Given the description of an element on the screen output the (x, y) to click on. 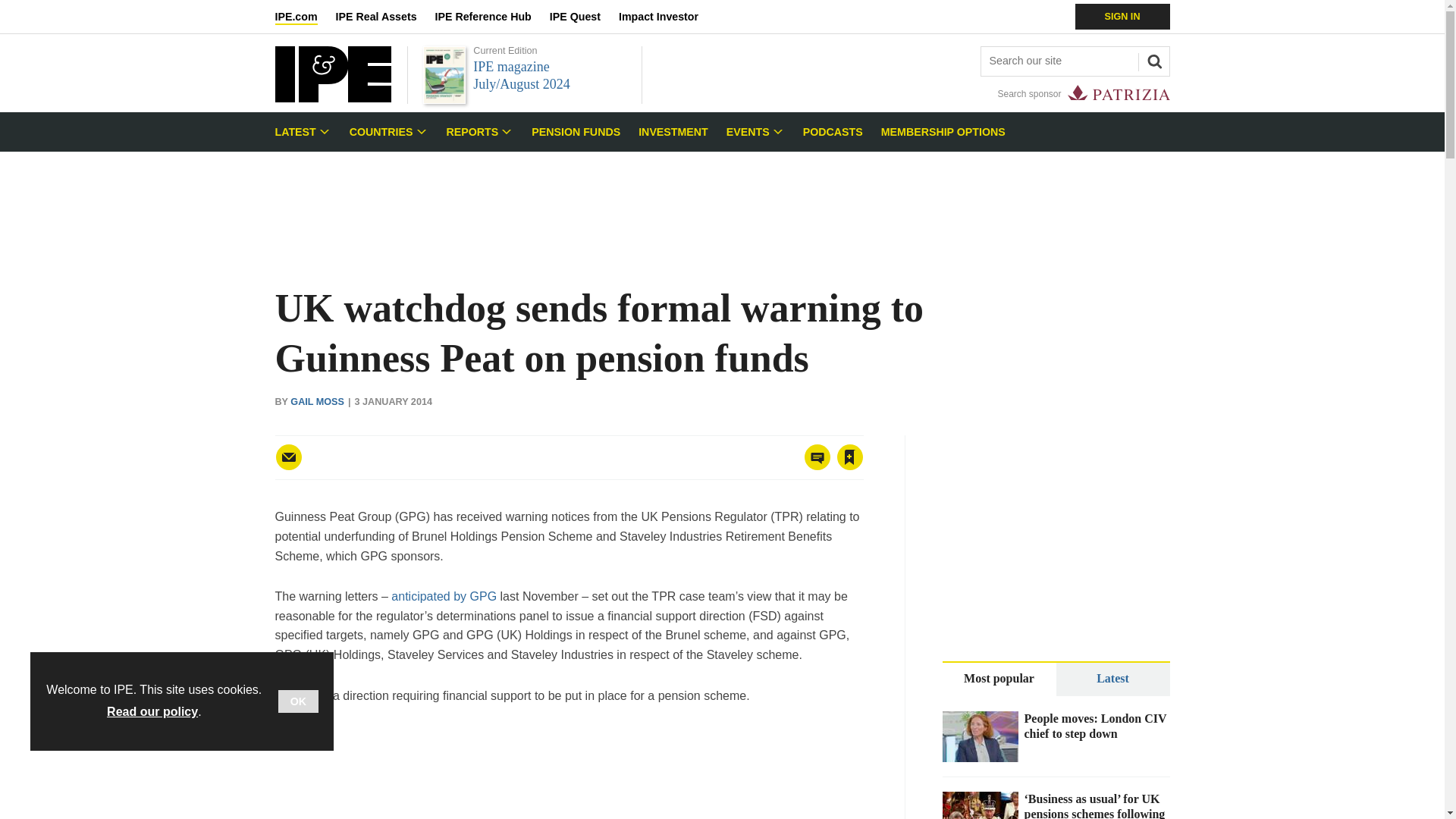
Read our policy (152, 711)
Impact Investor (667, 16)
SEARCH (1152, 59)
OK (298, 701)
Impact Investor (667, 16)
SIGN IN (1122, 16)
IPE Real Assets (384, 16)
IPE Quest (583, 16)
IPE Reference Hub (491, 16)
IPE Reference Hub (491, 16)
3rd party ad content (721, 203)
IPE Quest (583, 16)
3rd party ad content (568, 772)
IPE (332, 97)
IPE Real Assets (384, 16)
